Given the description of an element on the screen output the (x, y) to click on. 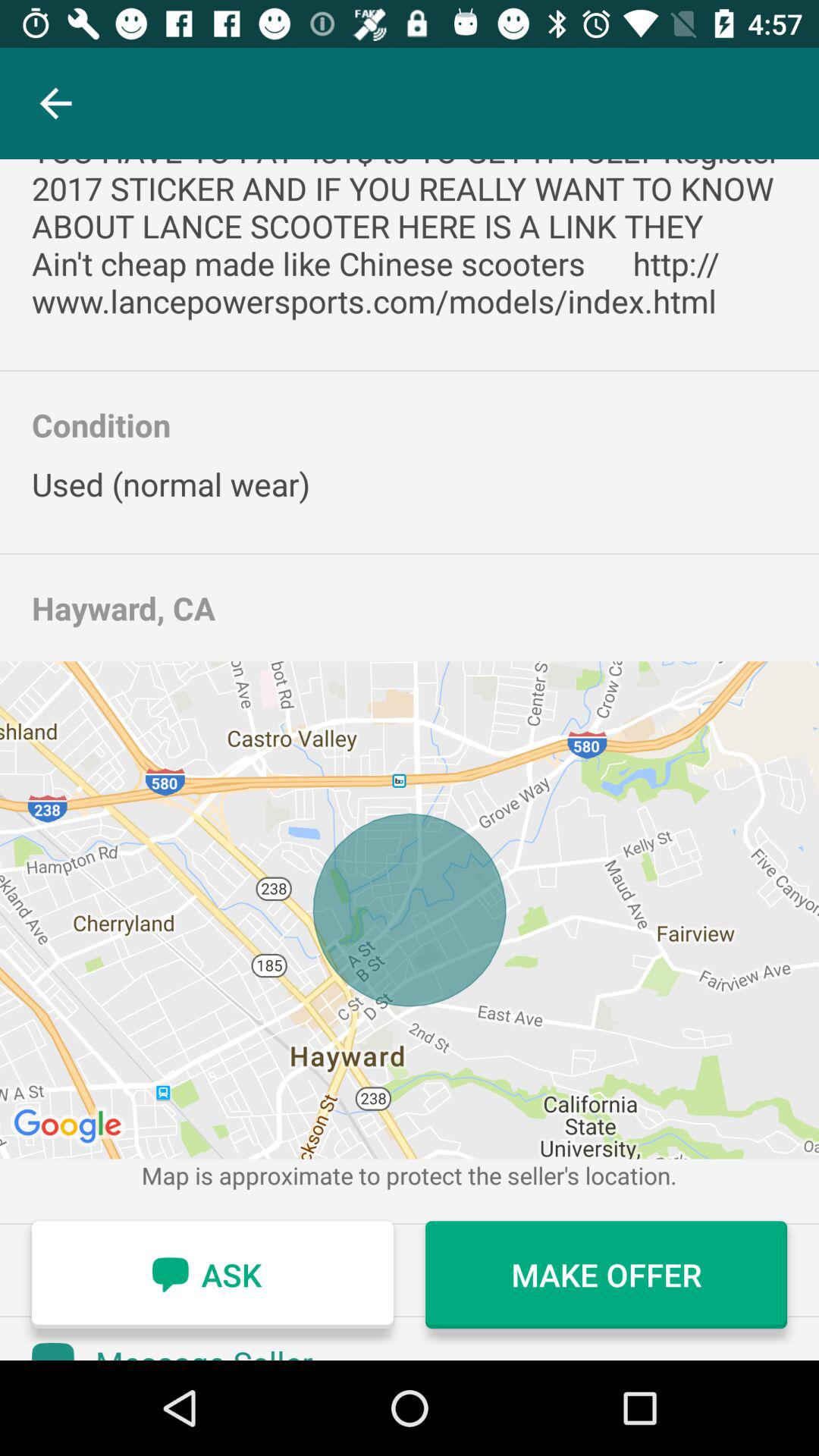
turn on the item above the map is approximate (409, 910)
